Given the description of an element on the screen output the (x, y) to click on. 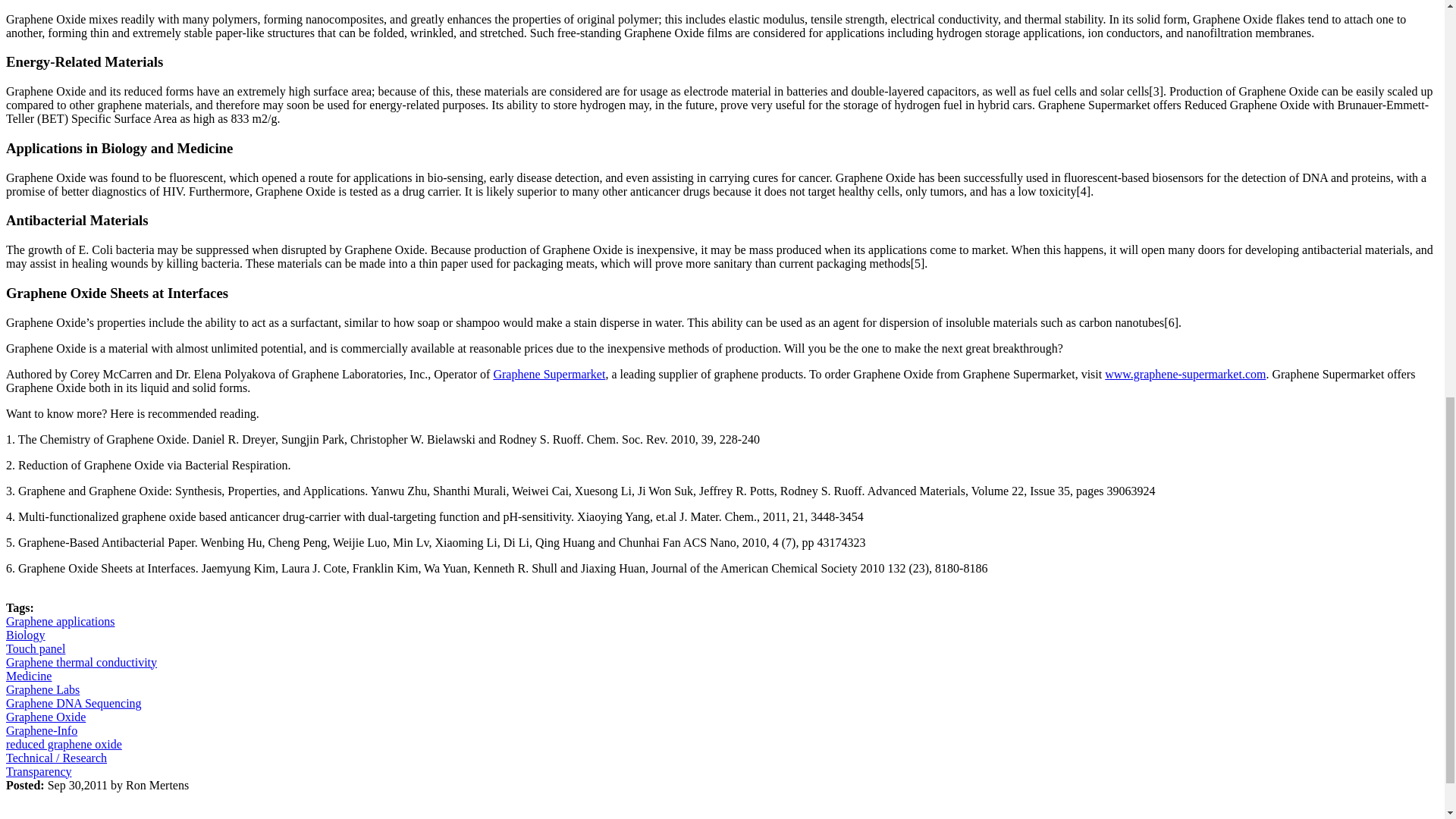
www.graphene-supermarket.com (1185, 373)
Graphene Oxide (45, 716)
Graphene Supermarket (549, 373)
Touch panel (35, 647)
Graphene thermal conductivity (81, 661)
Graphene-Info (41, 729)
reduced graphene oxide (63, 743)
Graphene DNA Sequencing (73, 702)
Medicine (27, 675)
Biology (25, 634)
Graphene applications (60, 620)
Graphene Labs (42, 688)
